Given the description of an element on the screen output the (x, y) to click on. 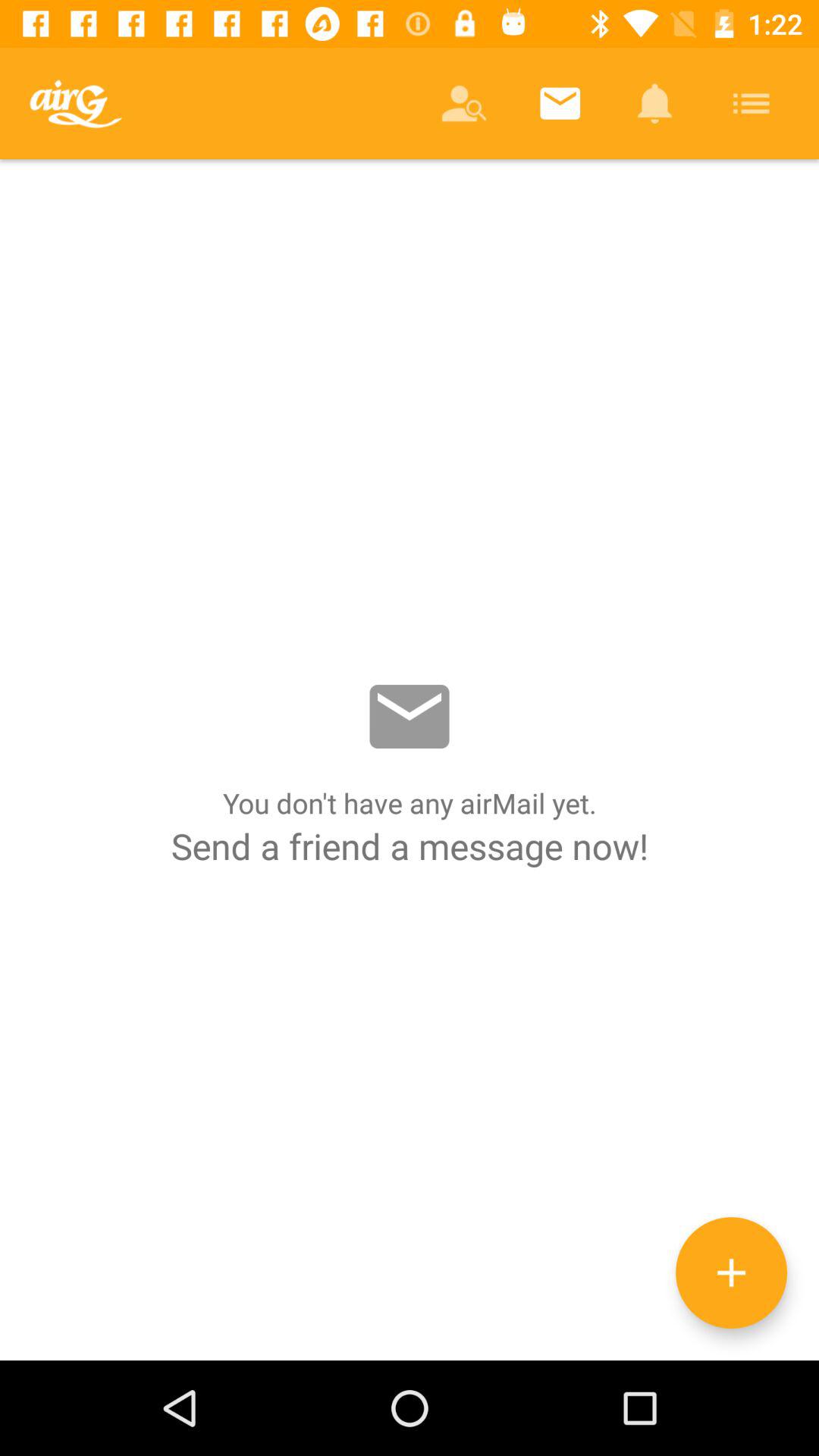
turn off icon at the top left corner (75, 103)
